Given the description of an element on the screen output the (x, y) to click on. 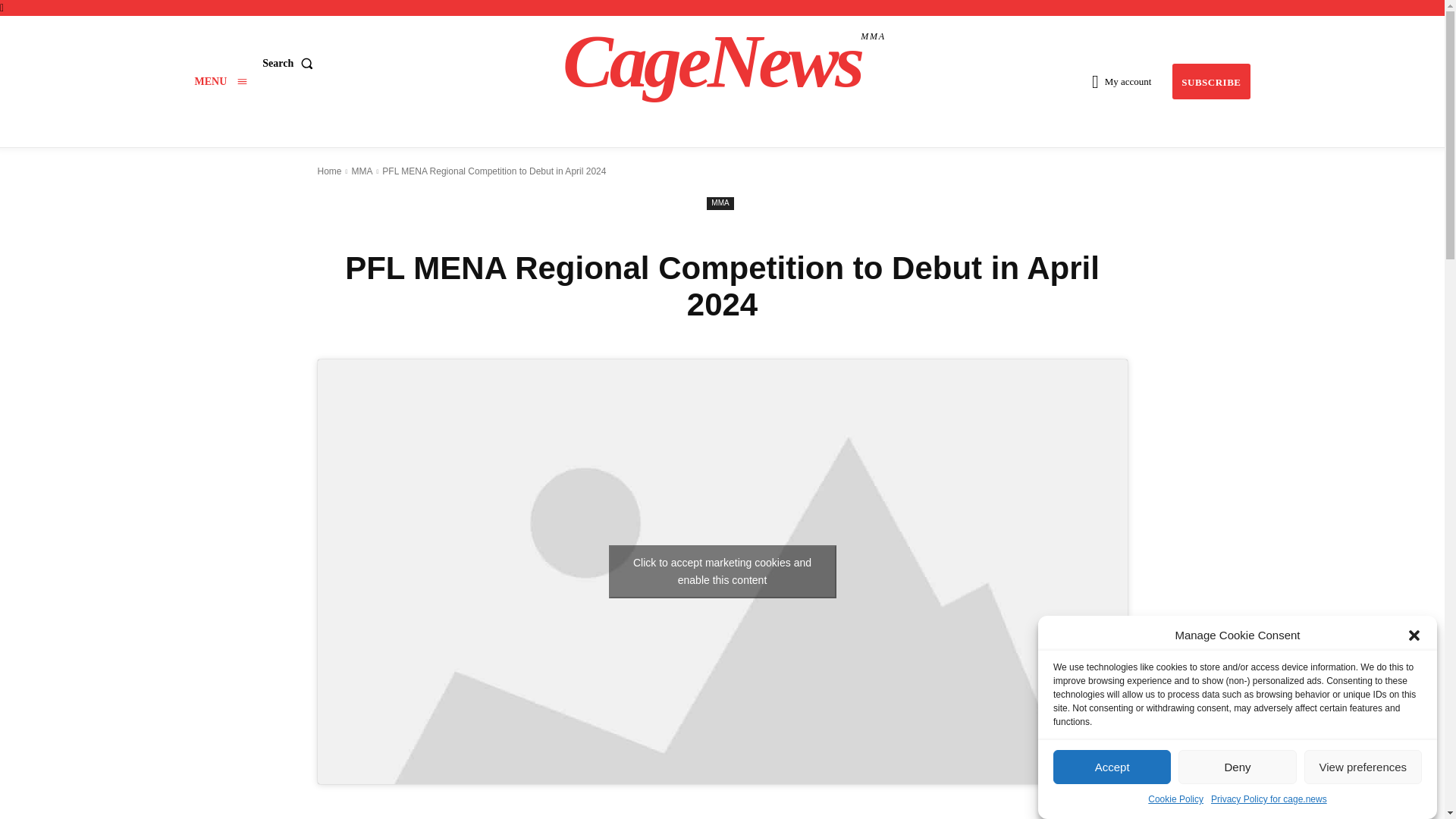
Menu (220, 81)
Search (290, 62)
Discover the world of fighting! (724, 61)
Subscribe (724, 61)
MENU (1210, 81)
SUBSCRIBE (220, 81)
